Given the description of an element on the screen output the (x, y) to click on. 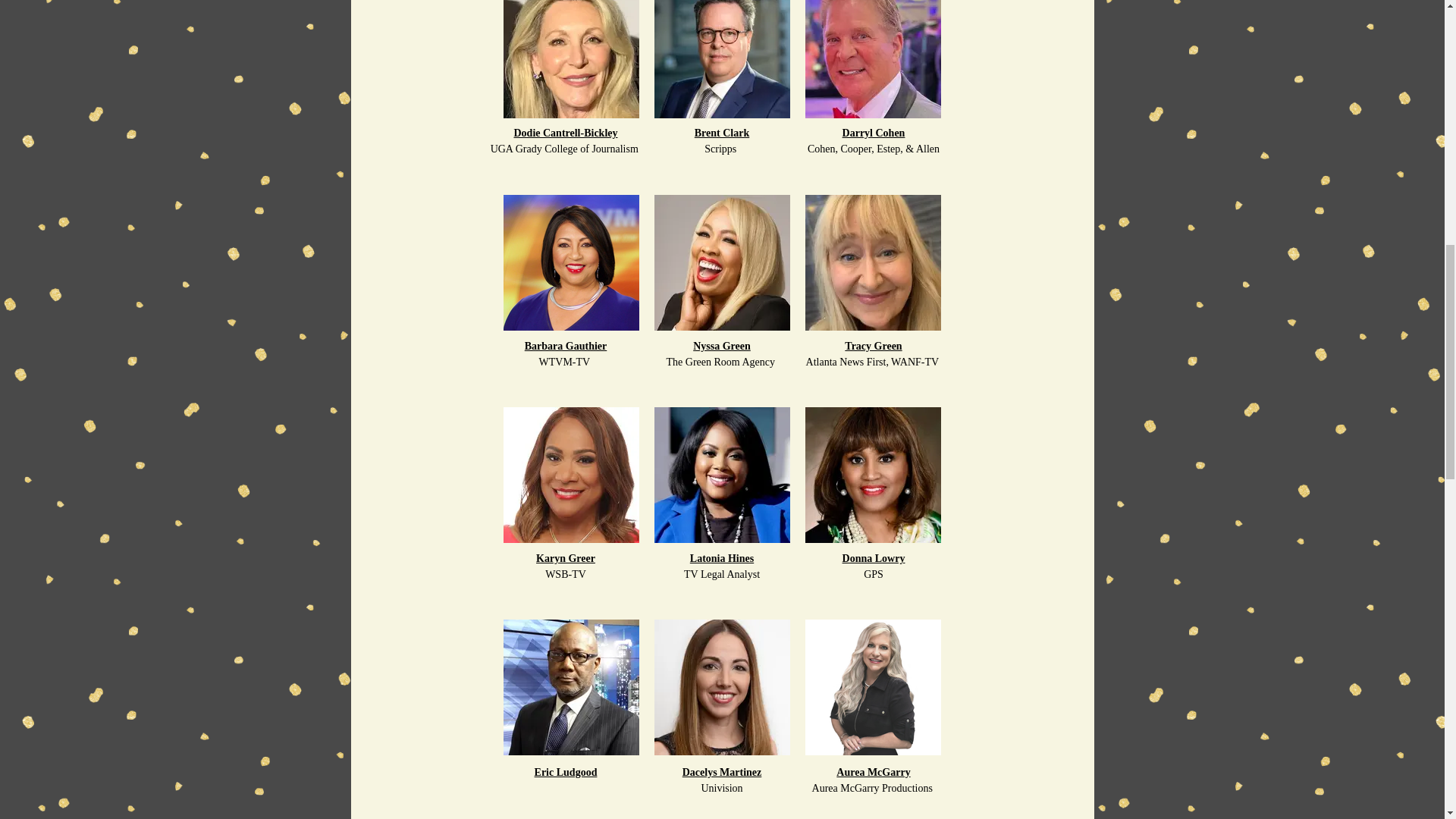
Dodie Cantrell-Bickley (565, 132)
Barbara Gauthier (565, 345)
Scripps  (721, 148)
Brent Clark (721, 132)
Darryl Cohen (874, 132)
